Given the description of an element on the screen output the (x, y) to click on. 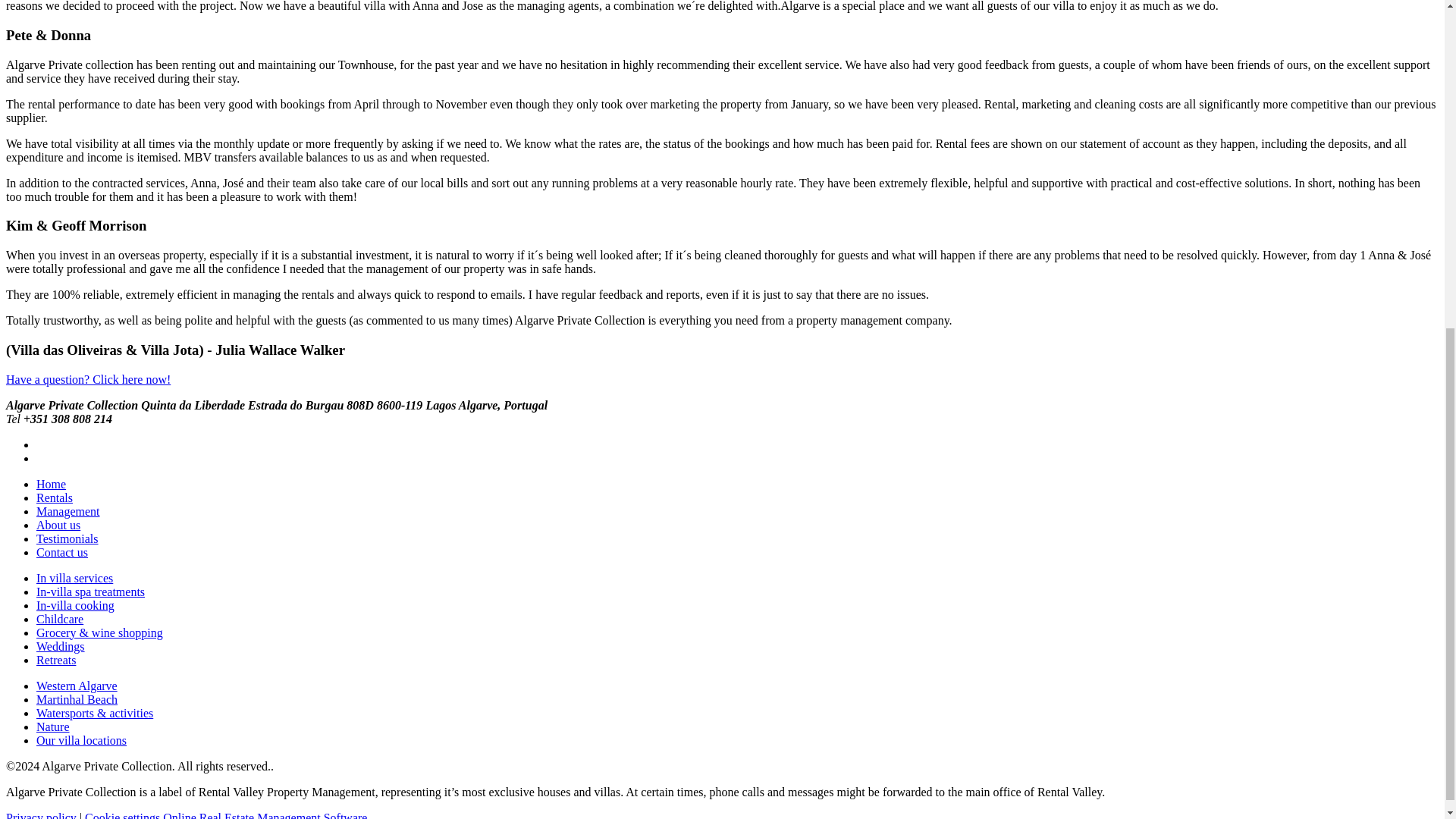
Management (68, 511)
Weddings (60, 645)
Our villa locations (81, 739)
Contact us (61, 552)
Rentals (54, 497)
In-villa spa treatments (90, 591)
Home (50, 483)
About us (58, 524)
Have a question? Click here now! (87, 379)
Western Algarve (76, 685)
Nature (52, 726)
Retreats (55, 659)
Testimonials (67, 538)
Martinhal Beach (76, 698)
In villa services (74, 577)
